Given the description of an element on the screen output the (x, y) to click on. 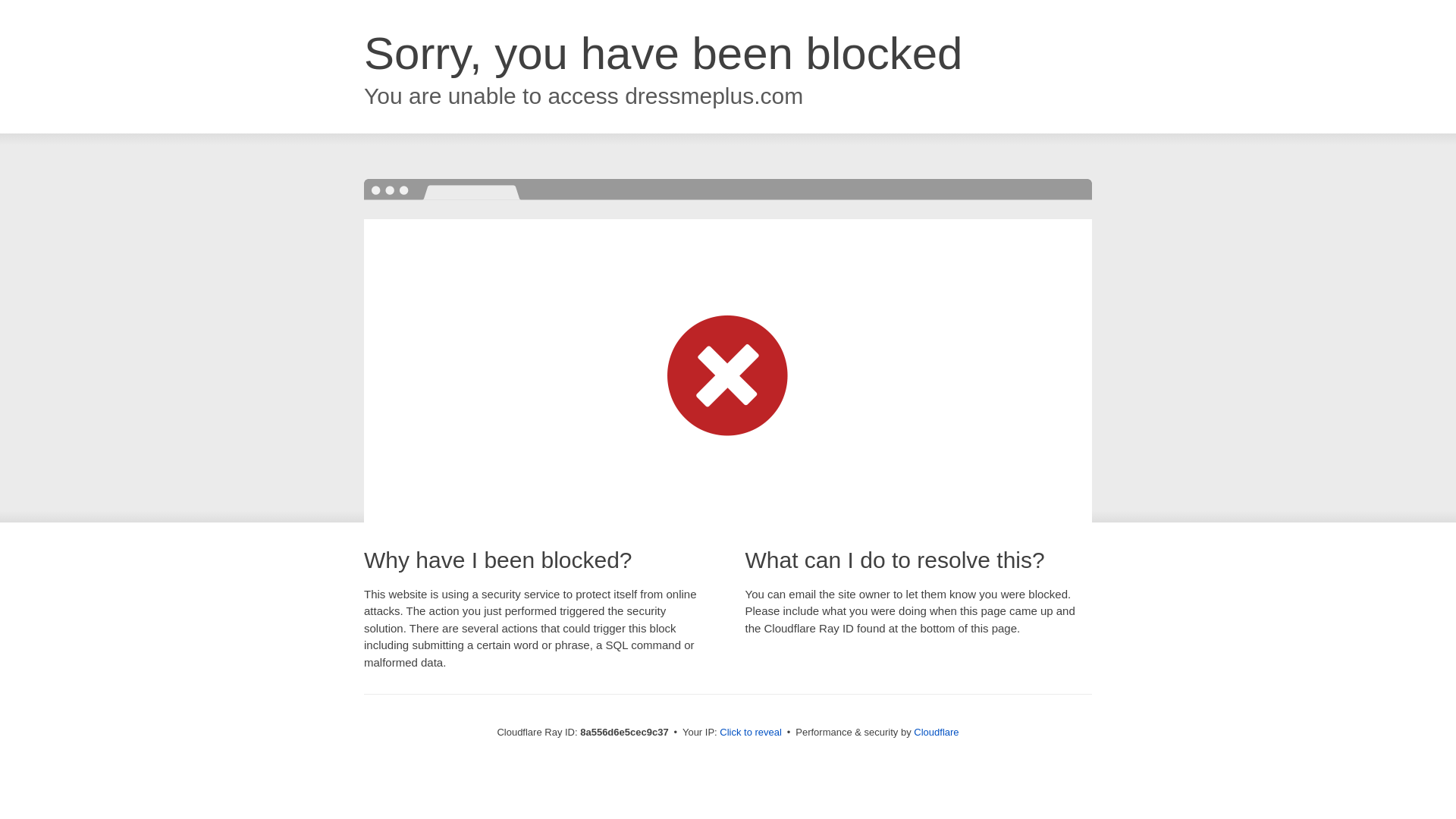
Cloudflare (936, 731)
Click to reveal (750, 732)
